Given the description of an element on the screen output the (x, y) to click on. 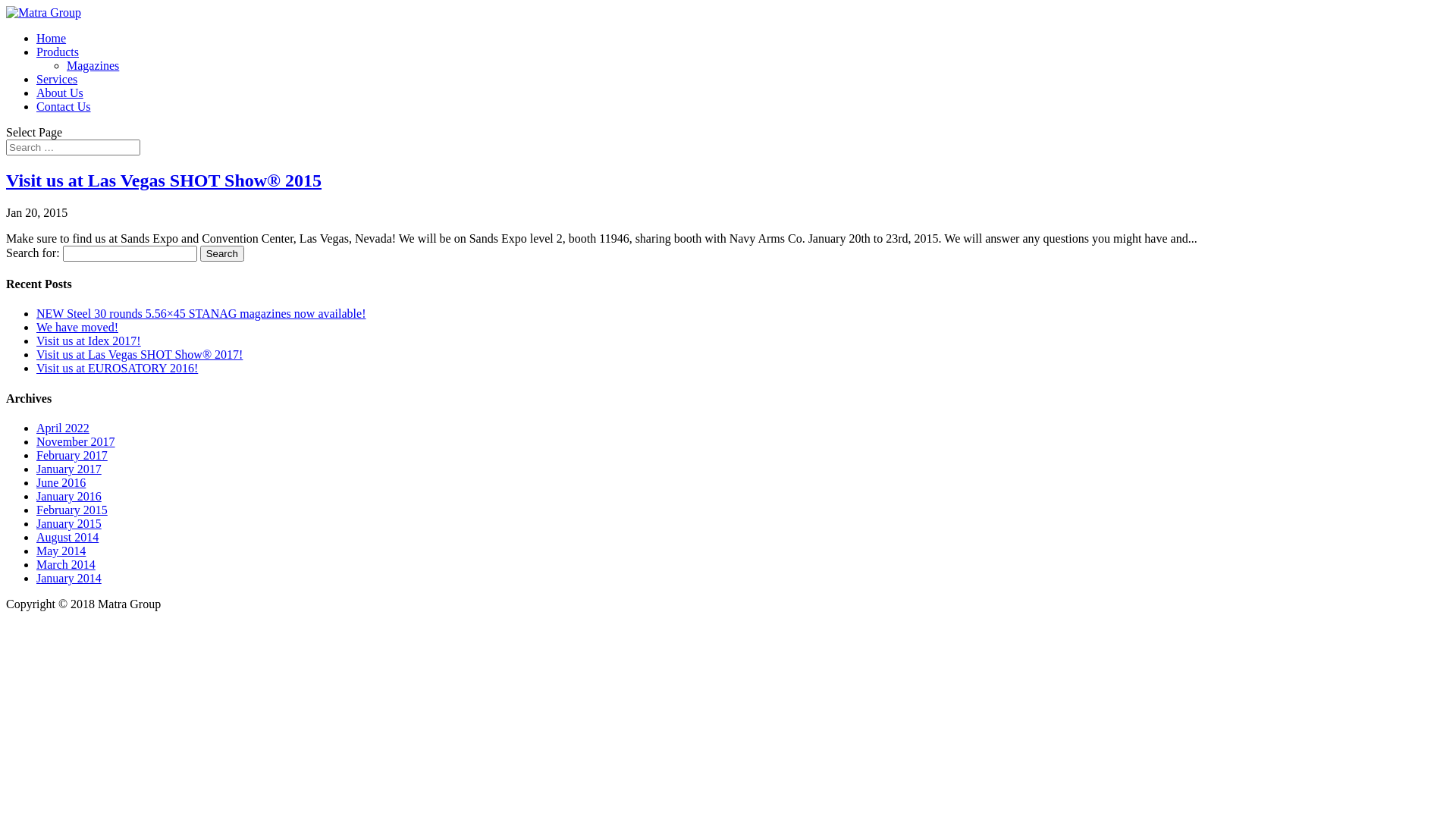
Products Element type: text (57, 51)
August 2014 Element type: text (67, 536)
February 2017 Element type: text (71, 454)
January 2015 Element type: text (68, 523)
Magazines Element type: text (92, 65)
Services Element type: text (56, 78)
April 2022 Element type: text (62, 427)
May 2014 Element type: text (60, 550)
January 2016 Element type: text (68, 495)
November 2017 Element type: text (75, 441)
January 2014 Element type: text (68, 577)
March 2014 Element type: text (65, 564)
Search Element type: text (222, 253)
Search for: Element type: hover (73, 147)
February 2015 Element type: text (71, 509)
June 2016 Element type: text (60, 482)
About Us Element type: text (59, 92)
Visit us at EUROSATORY 2016! Element type: text (116, 367)
Contact Us Element type: text (63, 106)
Home Element type: text (50, 37)
Visit us at Idex 2017! Element type: text (88, 340)
January 2017 Element type: text (68, 468)
We have moved! Element type: text (77, 326)
